Given the description of an element on the screen output the (x, y) to click on. 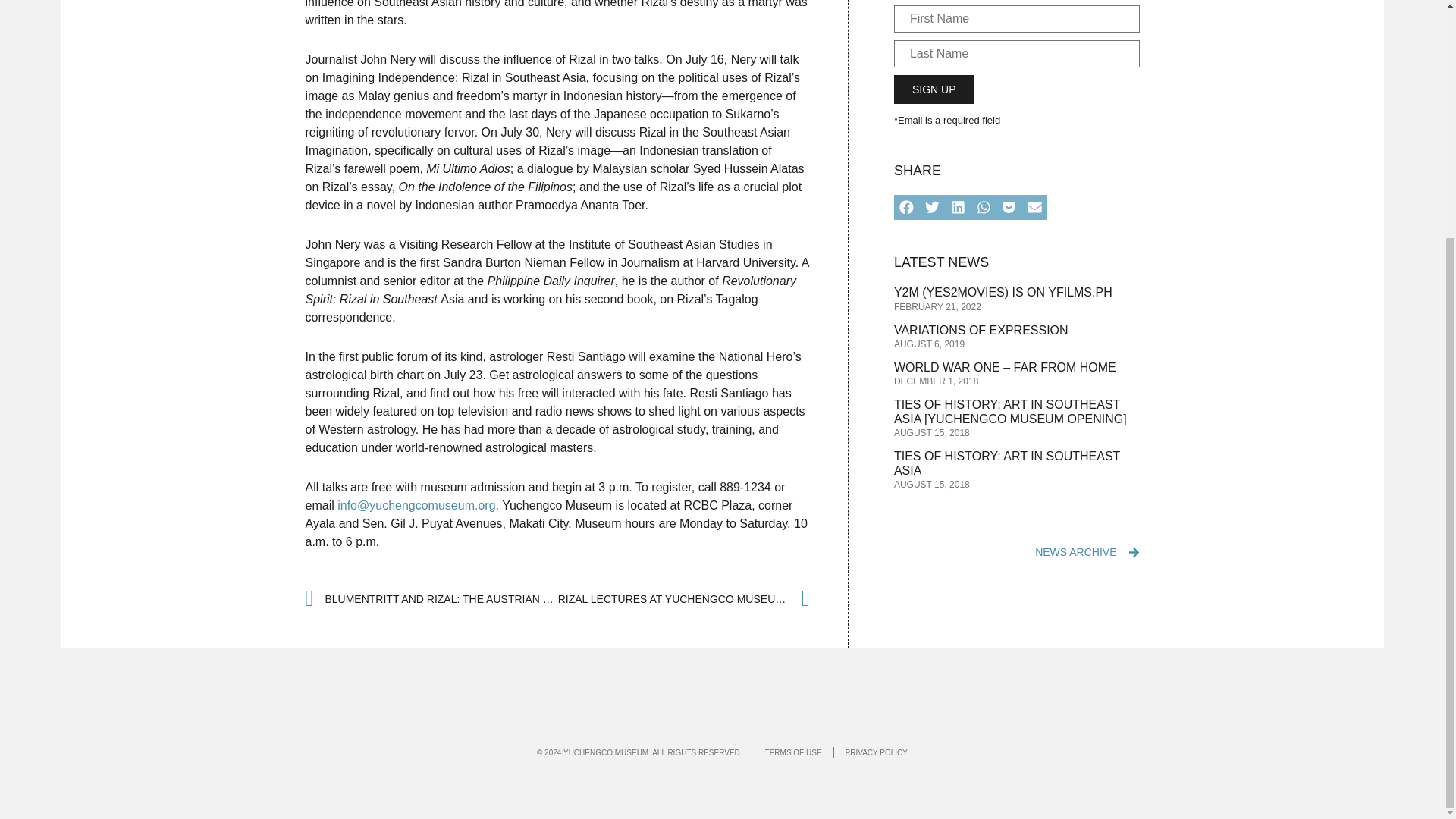
RIZAL LECTURES AT YUCHENGCO MUSEUM THIS AUGUST (683, 599)
VARIATIONS OF EXPRESSION (980, 329)
NEWS ARCHIVE (1075, 551)
PRIVACY POLICY (876, 752)
TERMS OF USE (793, 752)
Sign Up (933, 89)
Sign Up (933, 89)
TIES OF HISTORY: ART IN SOUTHEAST ASIA (1006, 462)
